Given the description of an element on the screen output the (x, y) to click on. 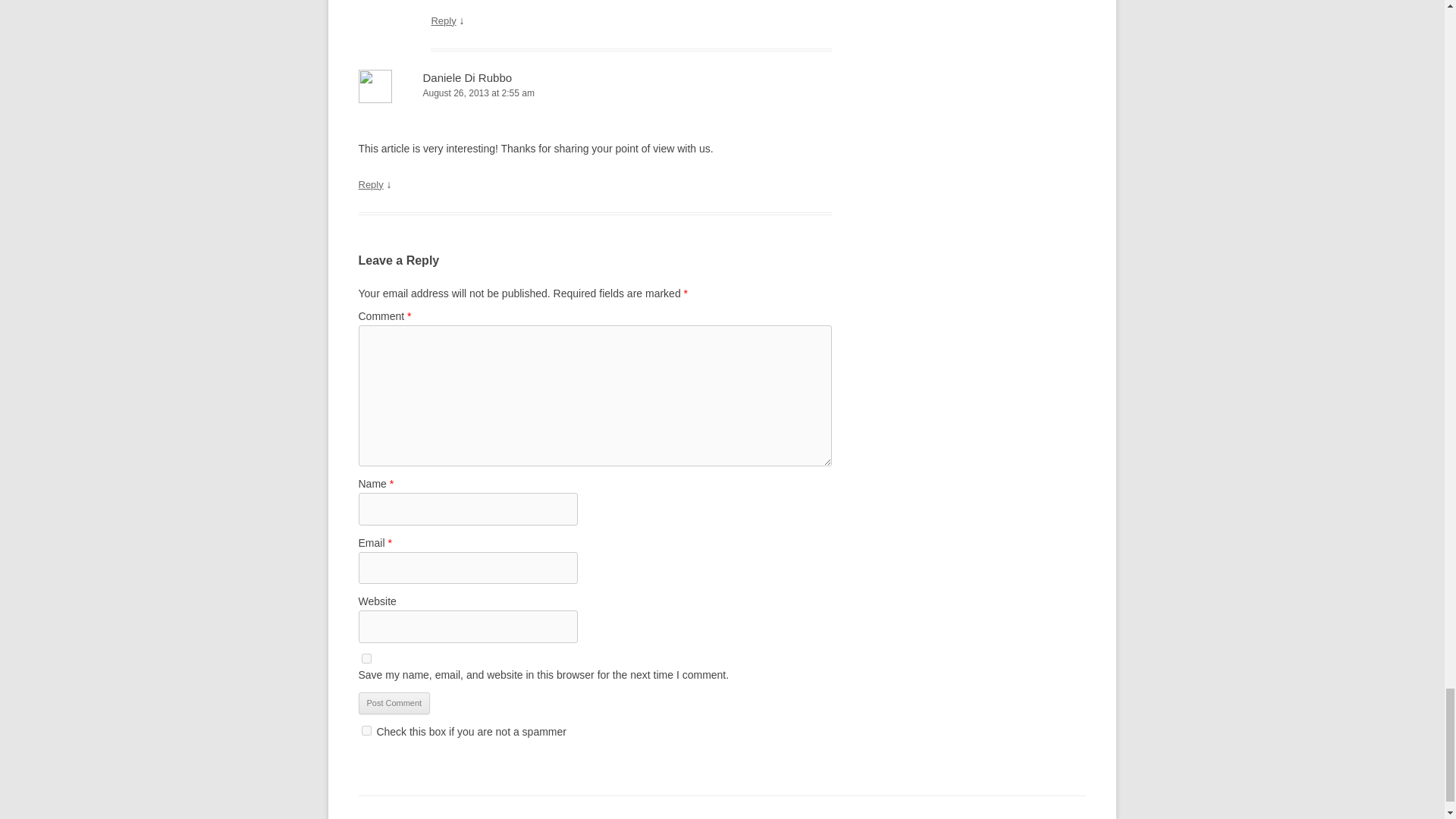
yes (366, 658)
on (366, 730)
Reply (442, 20)
August 26, 2013 at 2:55 am (594, 93)
Post Comment (393, 703)
Reply (370, 184)
Daniele Di Rubbo (467, 77)
Post Comment (393, 703)
